Given the description of an element on the screen output the (x, y) to click on. 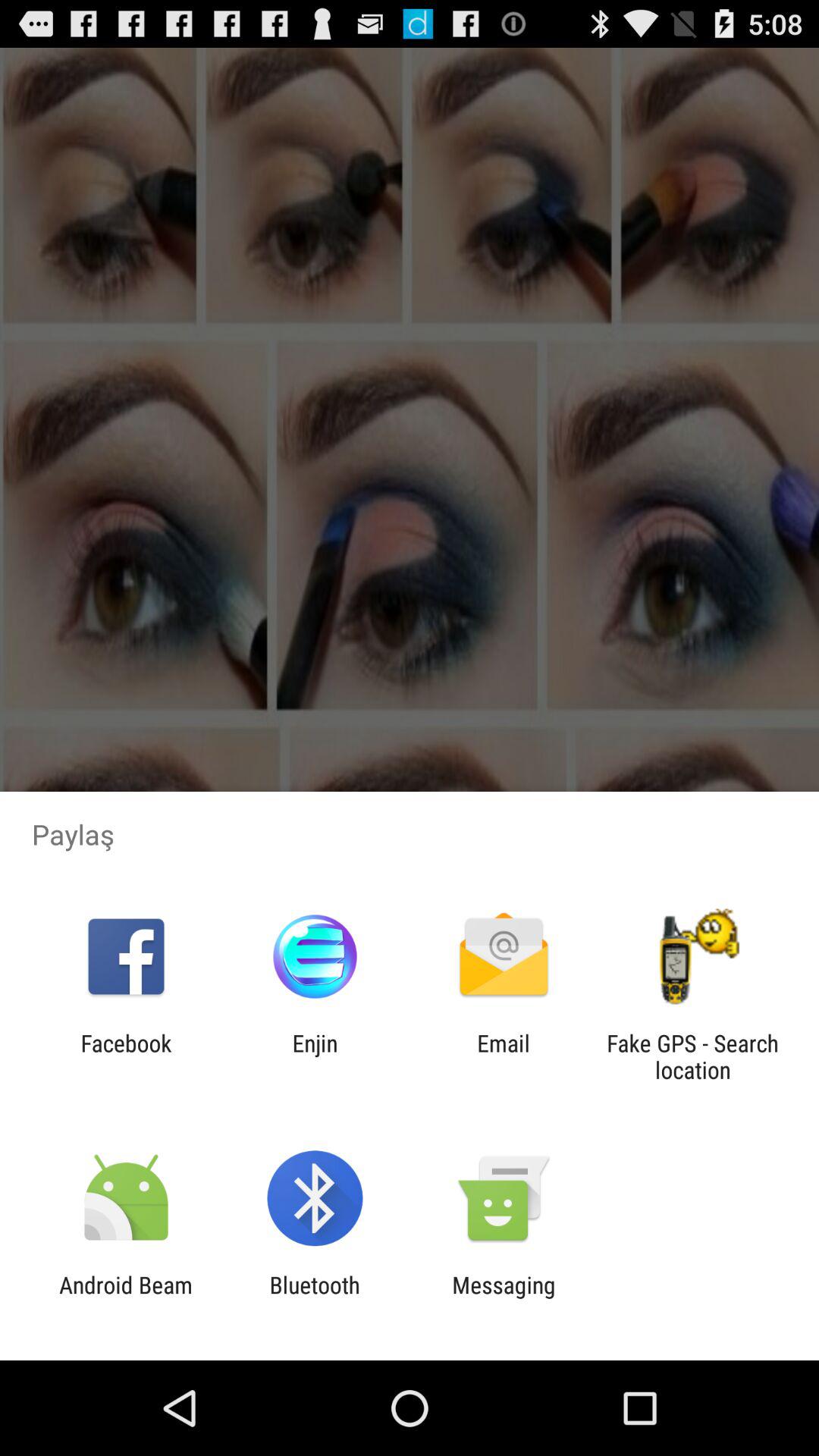
flip to facebook (125, 1056)
